Given the description of an element on the screen output the (x, y) to click on. 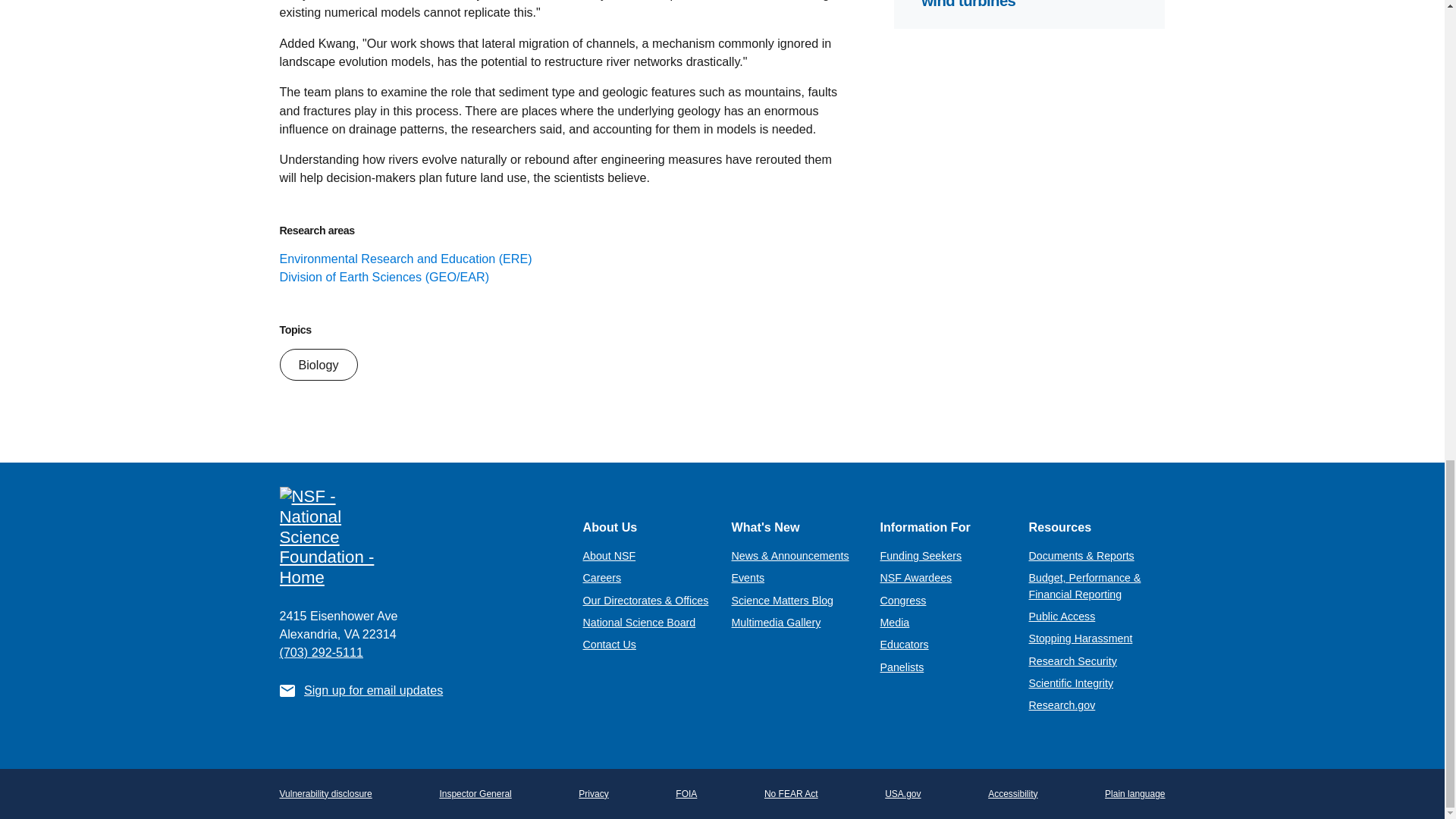
When lightning strikes, check for wind turbines (1034, 4)
Careers (601, 577)
Sign up for email updates (373, 689)
NSF - National Science Foundation - Home (418, 537)
About NSF (608, 555)
